Given the description of an element on the screen output the (x, y) to click on. 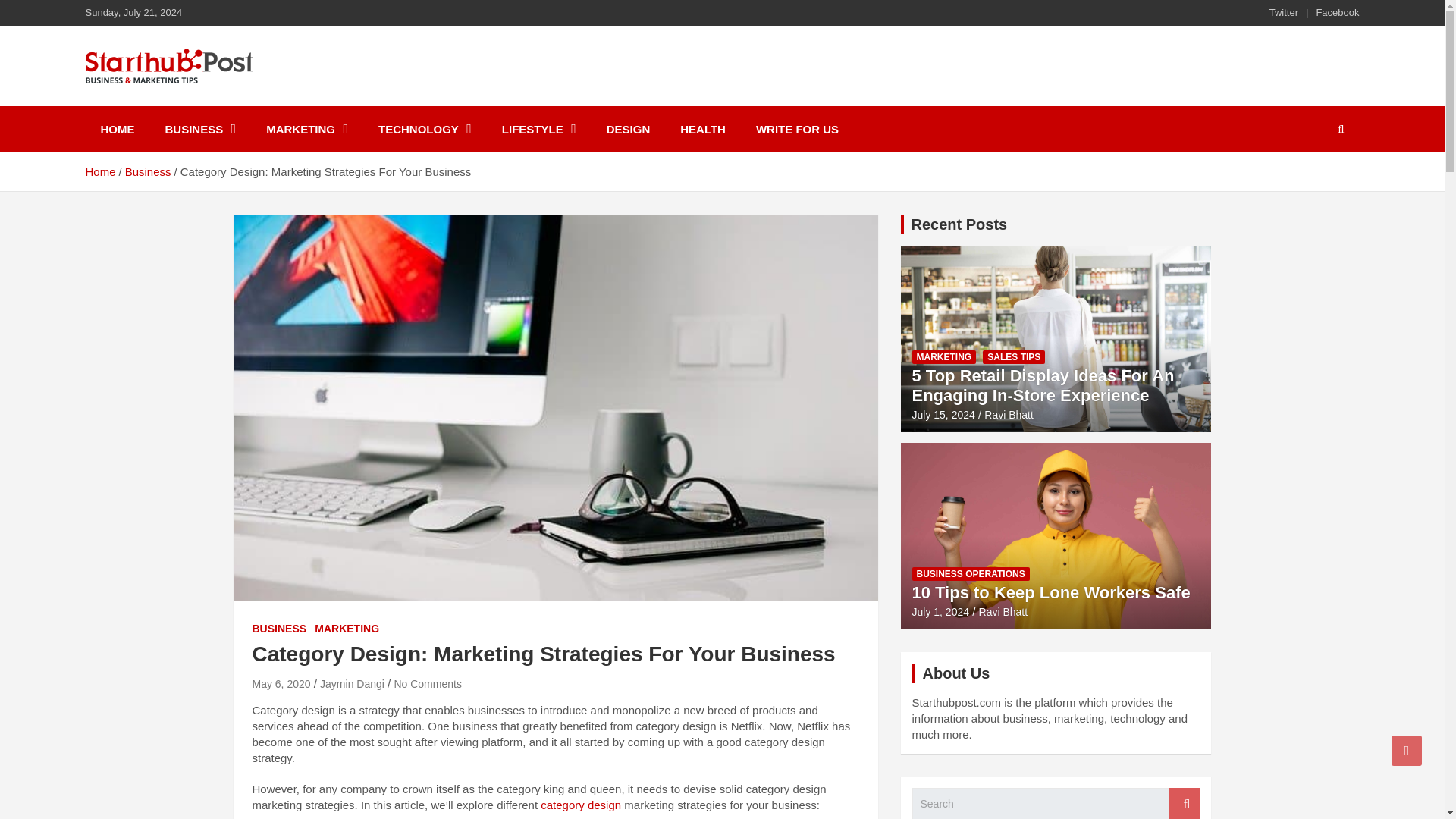
MARKETING (306, 129)
May 6, 2020 (280, 684)
Starthub Post (183, 102)
BUSINESS (200, 129)
10 Tips to Keep Lone Workers Safe (940, 612)
Business (148, 171)
WRITE FOR US (797, 129)
Facebook (1337, 12)
BUSINESS (278, 628)
DESIGN (628, 129)
Go to Top (1406, 750)
MARKETING (346, 628)
Category Design: Marketing Strategies For Your Business (280, 684)
category design (580, 804)
LIFESTYLE (538, 129)
